Given the description of an element on the screen output the (x, y) to click on. 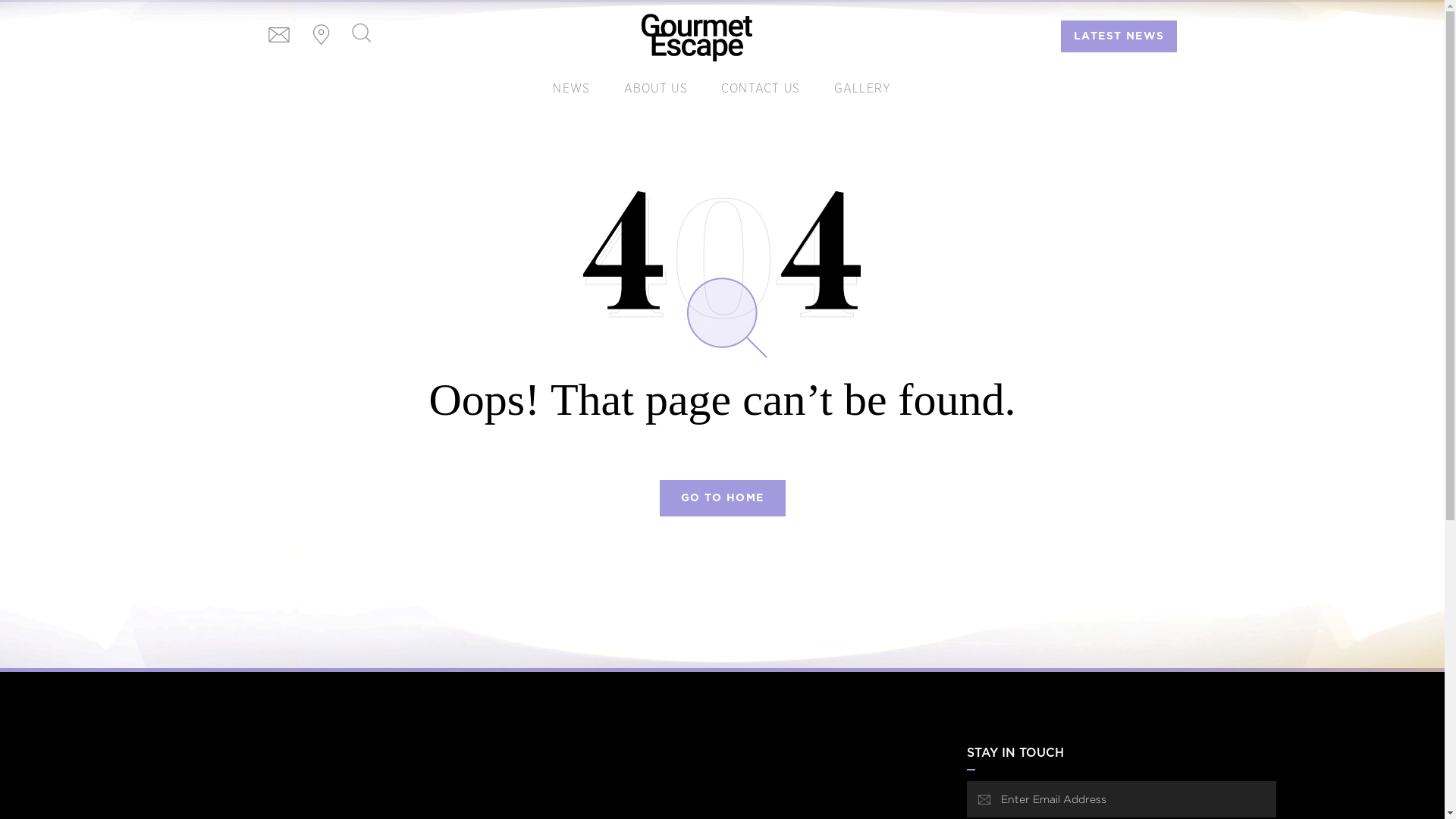
LATEST NEWS Element type: text (1118, 36)
ABOUT US Element type: text (655, 88)
NEWS Element type: text (571, 88)
GO TO HOME Element type: text (722, 498)
GALLERY Element type: text (862, 88)
CONTACT US Element type: text (760, 88)
